Given the description of an element on the screen output the (x, y) to click on. 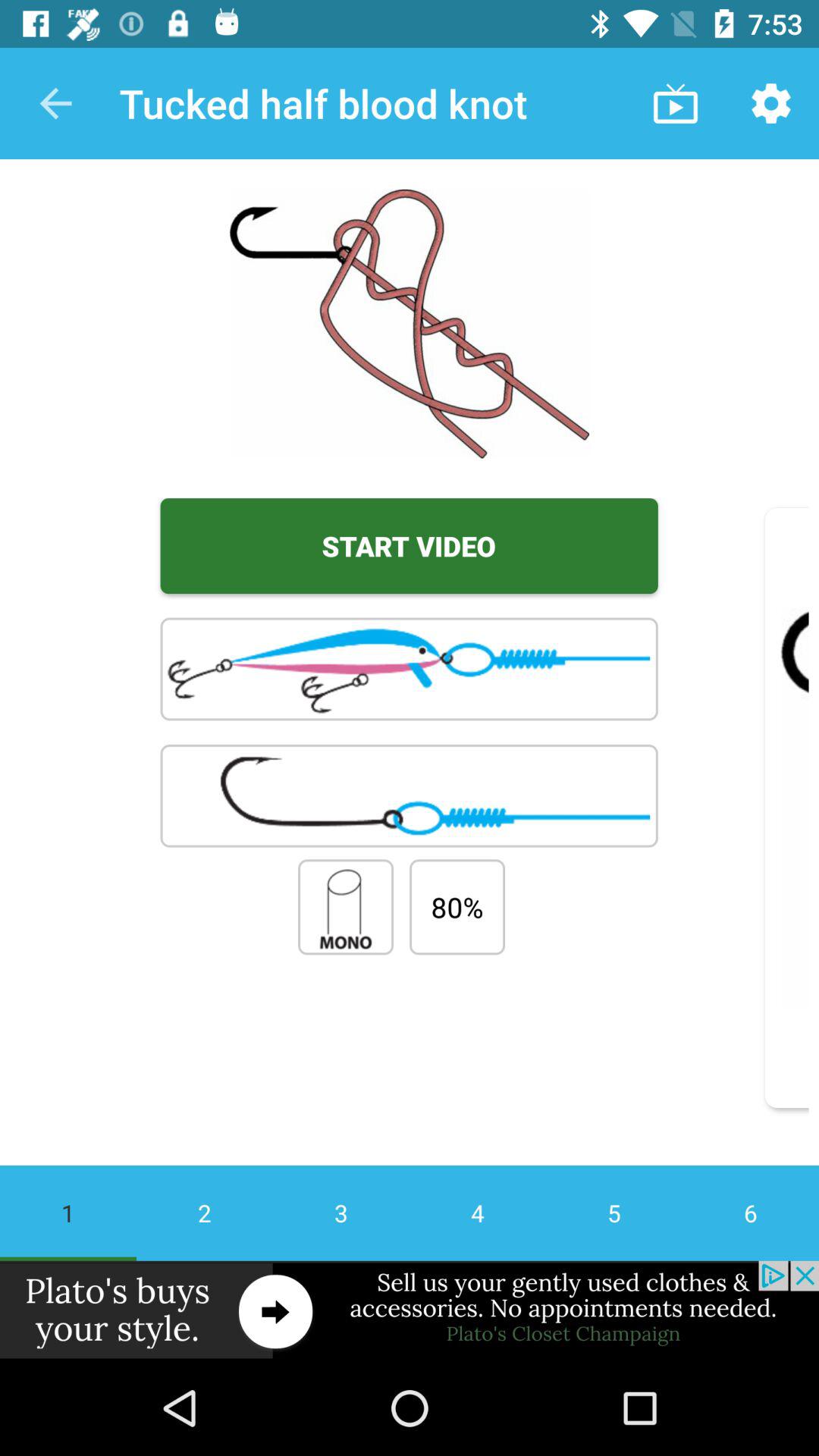
highlighting advertisement (409, 1310)
